Given the description of an element on the screen output the (x, y) to click on. 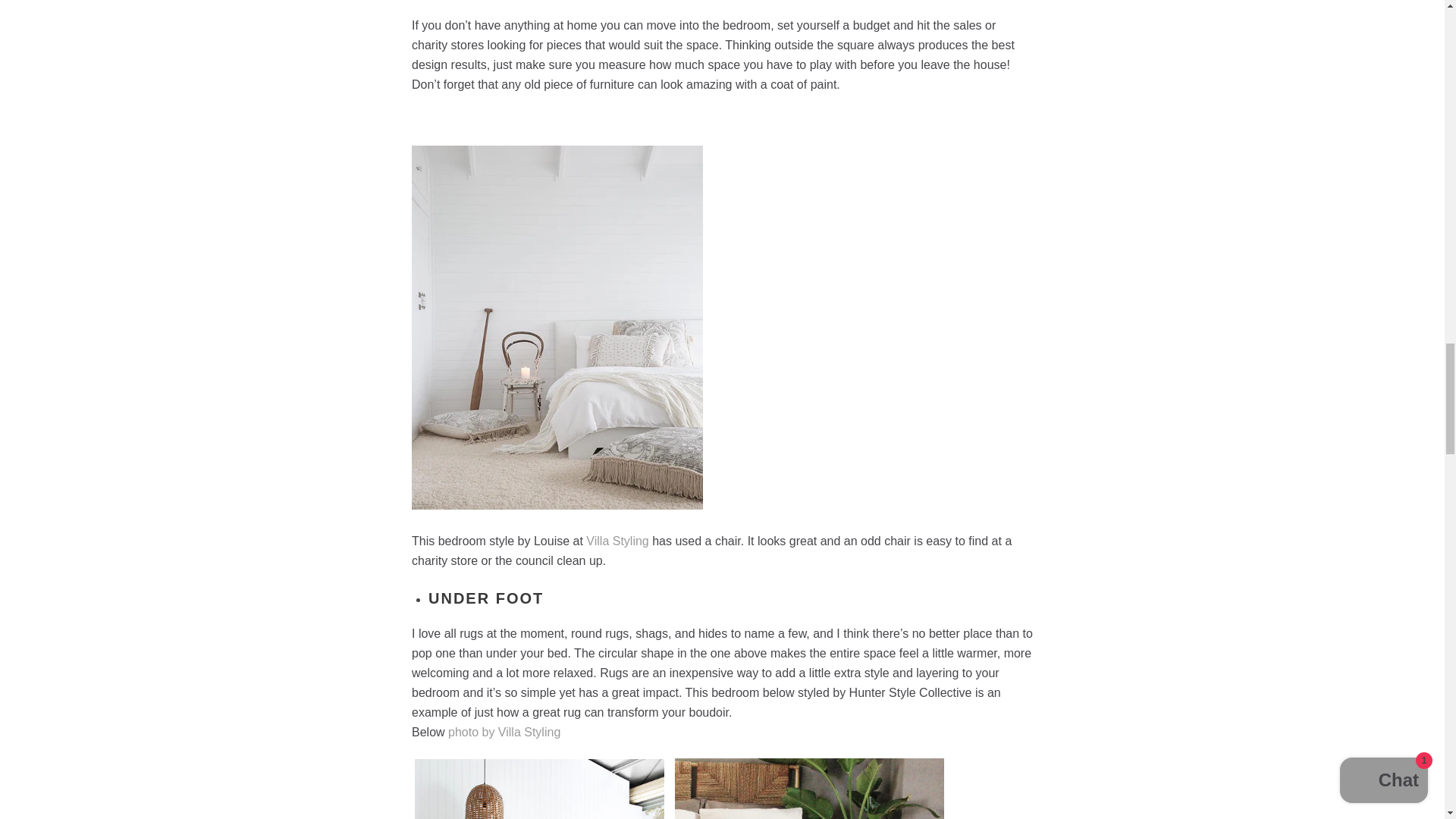
photo by Villa Styling (504, 731)
Villa Styling (616, 540)
